Given the description of an element on the screen output the (x, y) to click on. 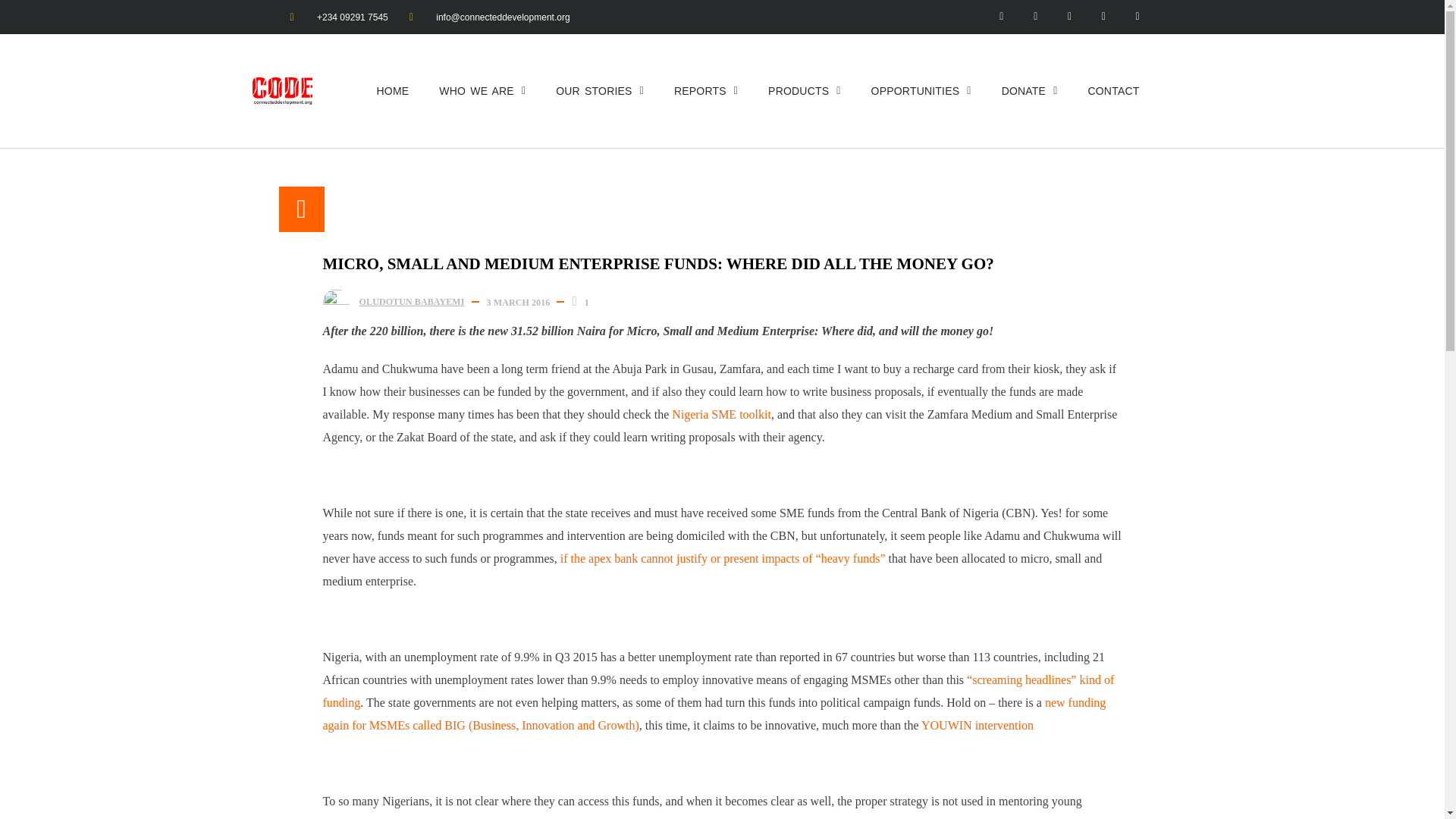
PRODUCTS (804, 90)
OPPORTUNITIES (921, 90)
REPORTS (705, 90)
HOME (392, 90)
OUR STORIES (599, 90)
DONATE (1030, 90)
WHO WE ARE (481, 90)
CONTACT (1112, 90)
